Given the description of an element on the screen output the (x, y) to click on. 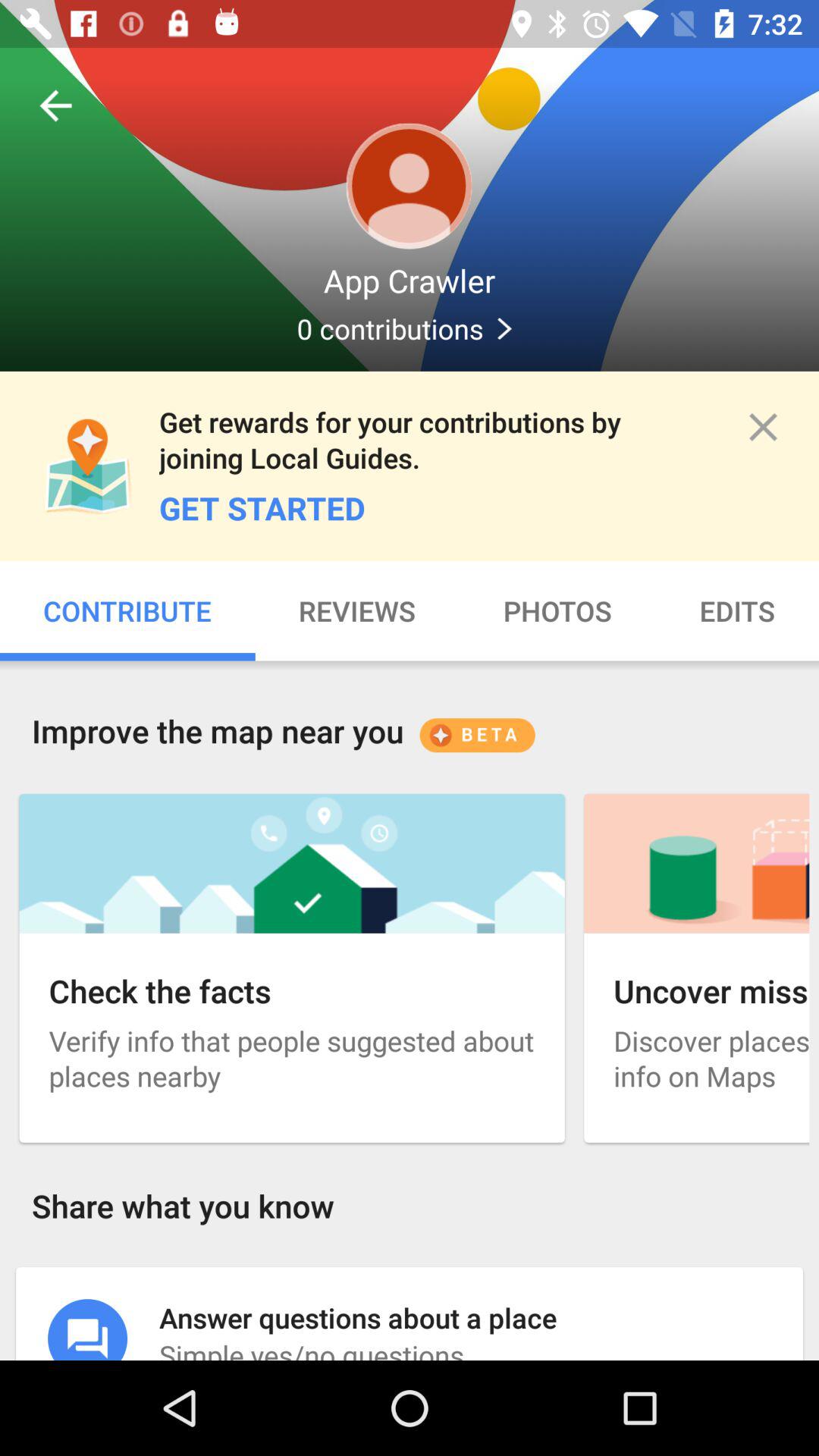
turn on the item above the app crawler (55, 105)
